Given the description of an element on the screen output the (x, y) to click on. 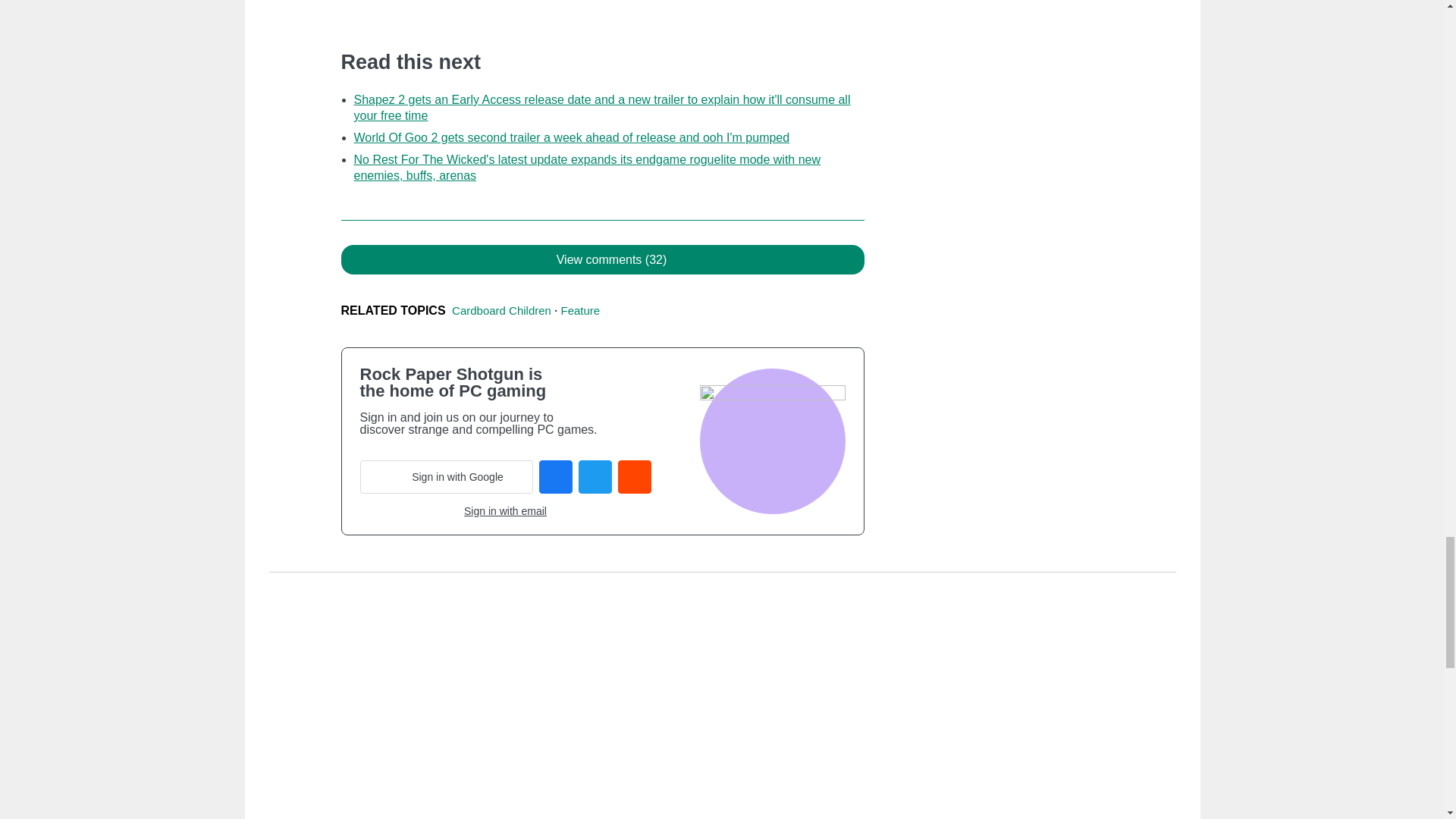
Feature (579, 309)
Cardboard Children (501, 309)
